Given the description of an element on the screen output the (x, y) to click on. 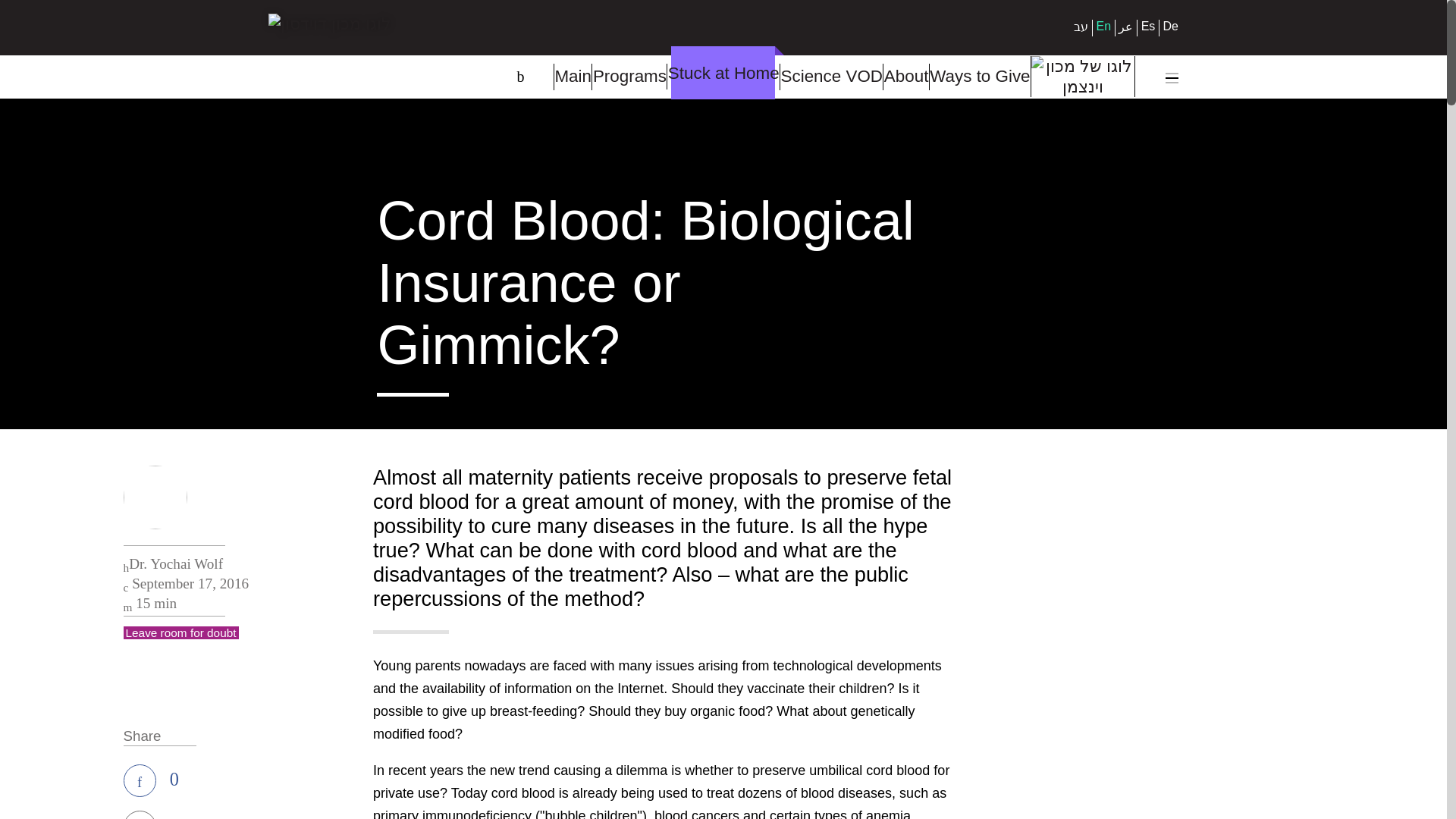
Science VOD (830, 76)
Ways to Give (979, 76)
En (1104, 25)
Main (572, 76)
Es (1148, 25)
Home (329, 55)
Programs (628, 76)
About (905, 76)
De (1170, 25)
Stuck at Home (722, 76)
